Given the description of an element on the screen output the (x, y) to click on. 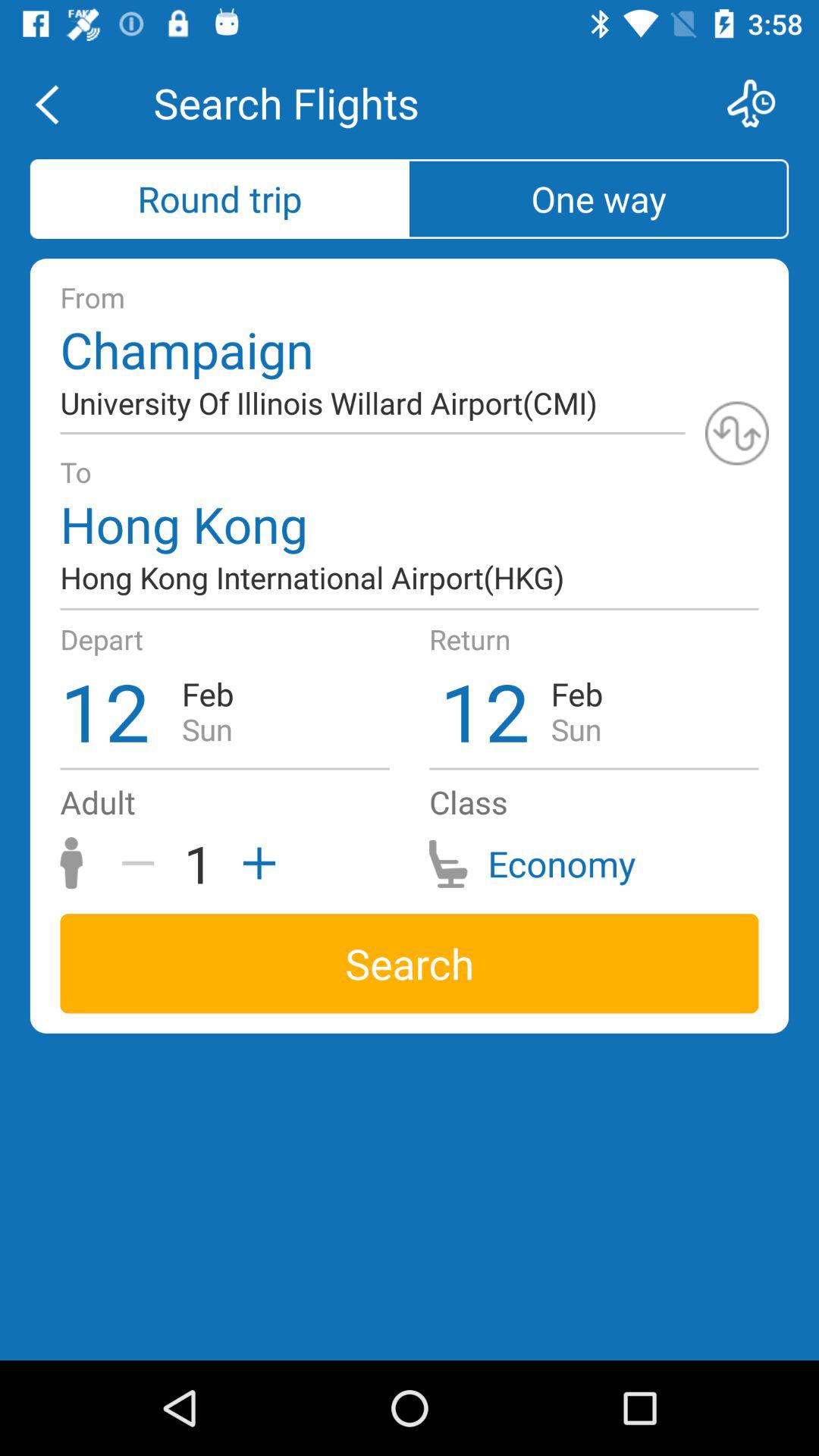
view flight times (761, 102)
